Given the description of an element on the screen output the (x, y) to click on. 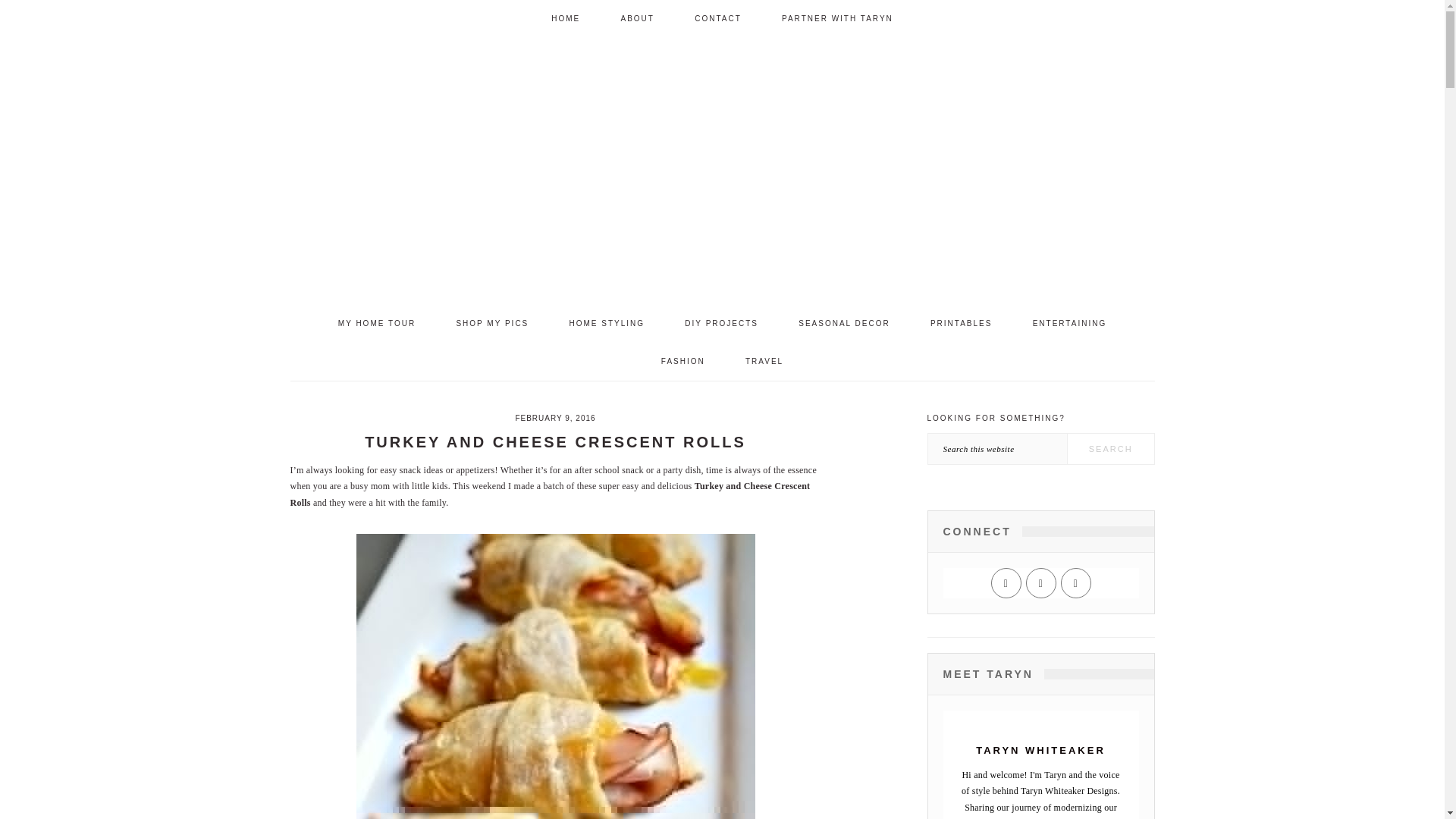
TRAVEL (764, 361)
SEASONAL DECOR (843, 323)
ABOUT (636, 18)
DIY PROJECTS (721, 323)
Instagram (1040, 583)
TARYN WHITEAKER DESIGNS (721, 166)
HOME (565, 18)
CONTACT (717, 18)
ENTERTAINING (1069, 323)
